Given the description of an element on the screen output the (x, y) to click on. 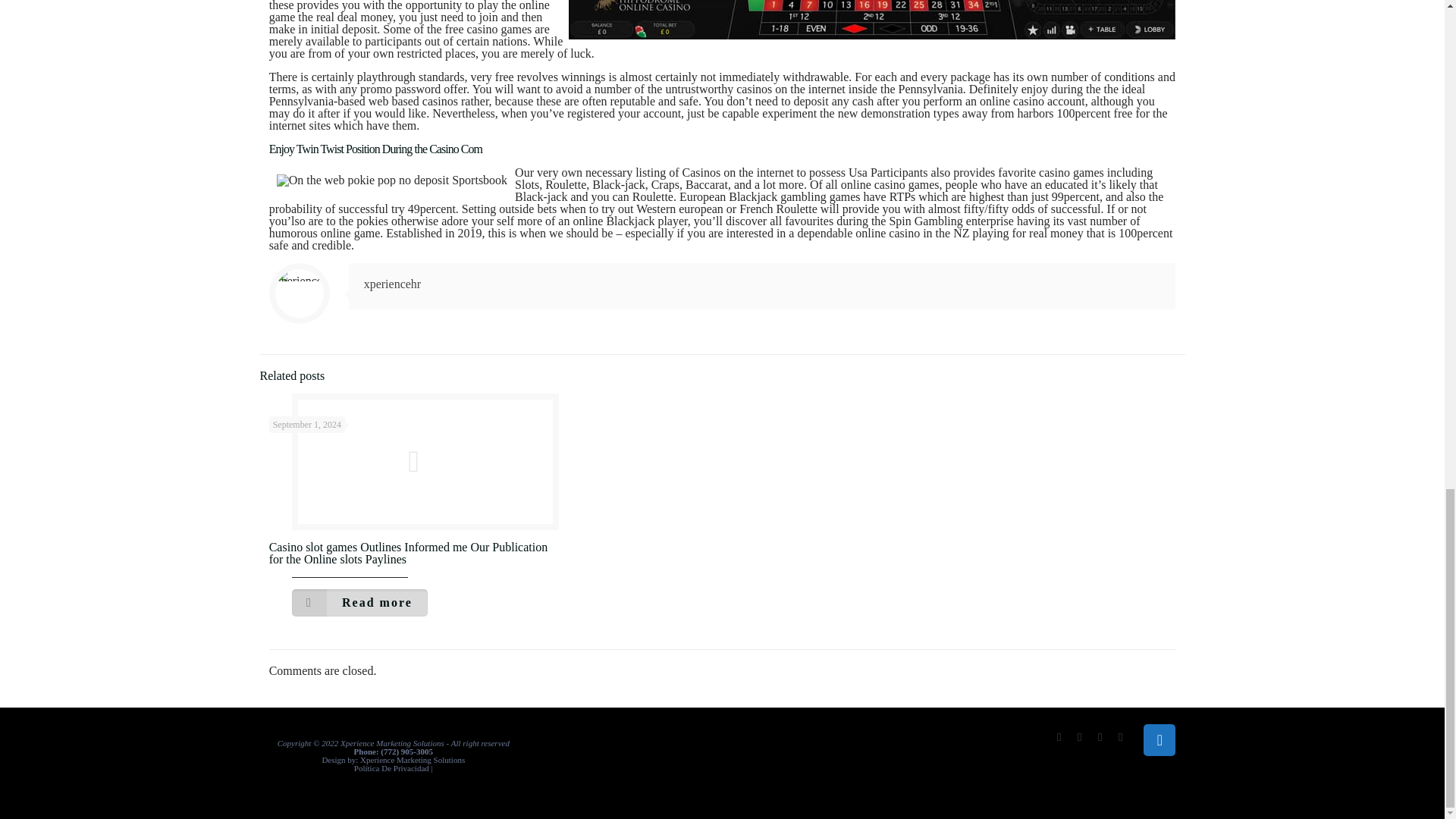
LinkedIn (1120, 736)
xperiencehr (393, 283)
YouTube (1100, 736)
Read more (360, 602)
Twitter (1079, 736)
Facebook (1059, 736)
Xperience Marketing Solutions (411, 759)
